Given the description of an element on the screen output the (x, y) to click on. 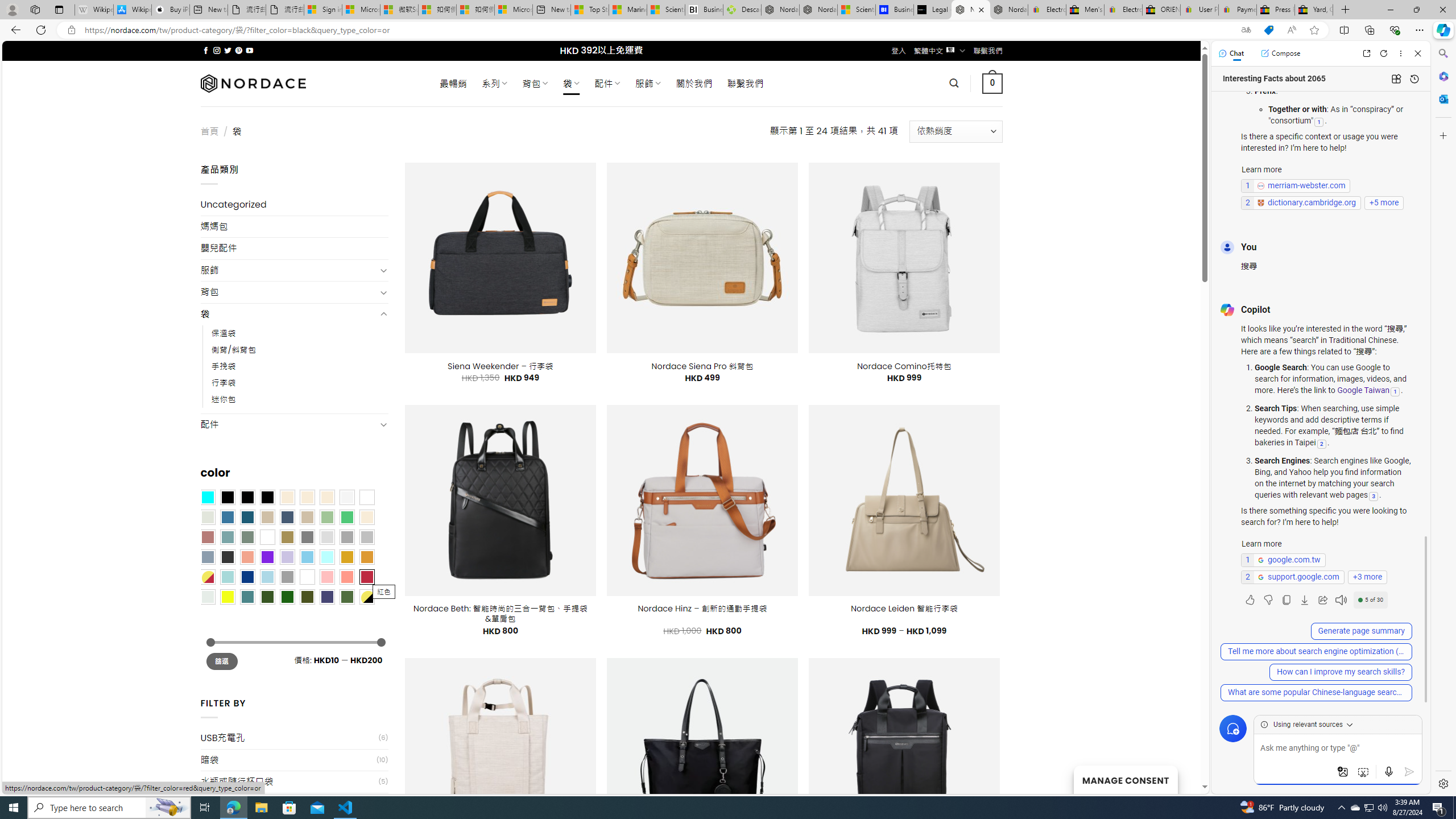
Sign in to your Microsoft account (322, 9)
Uncategorized (294, 204)
